Given the description of an element on the screen output the (x, y) to click on. 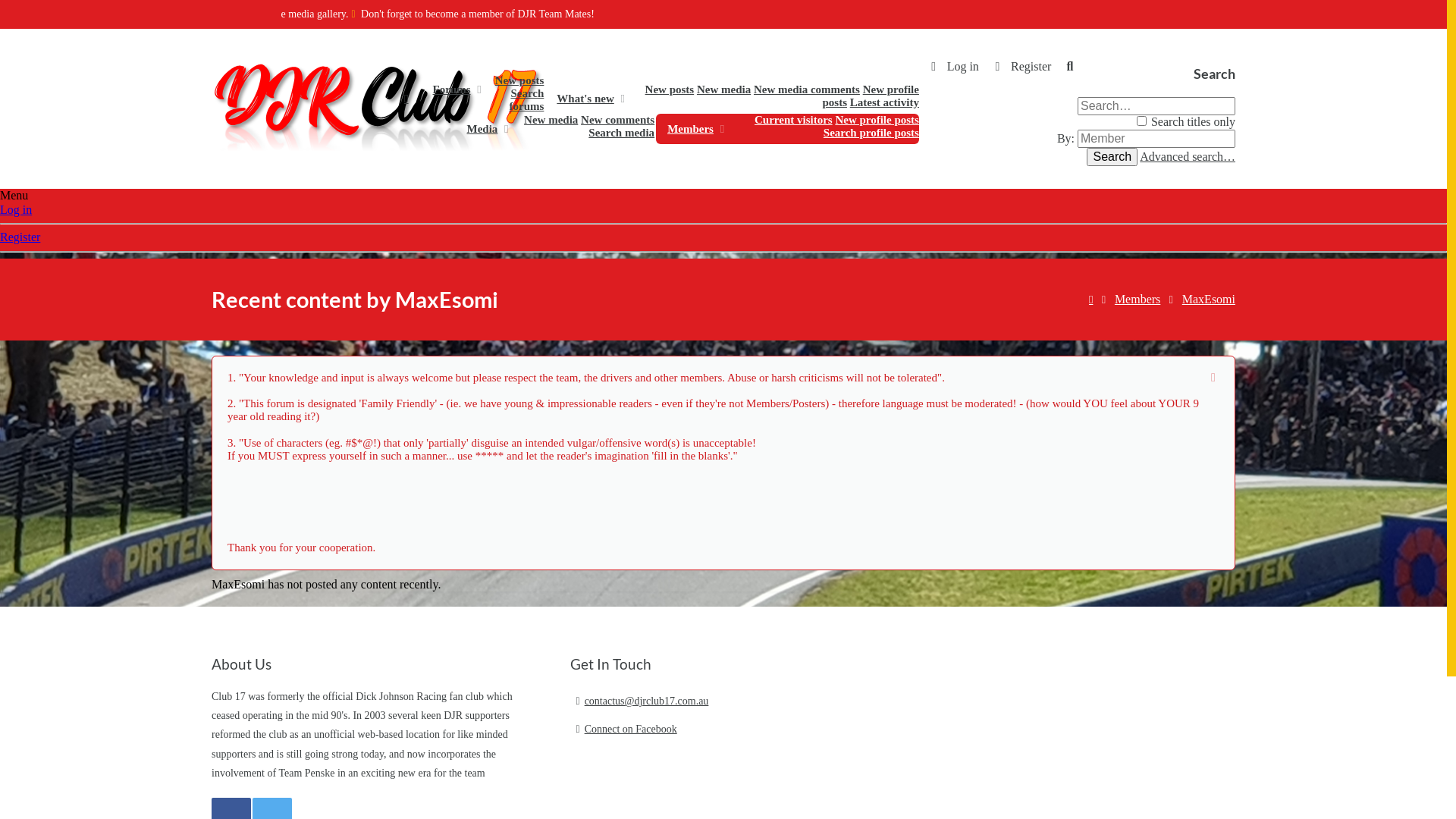
New posts Element type: text (669, 89)
Forums Element type: text (447, 89)
Register Element type: text (20, 236)
Search forums Element type: text (526, 99)
Register Element type: text (1020, 66)
Log in Element type: text (15, 209)
Members Element type: text (685, 128)
Members Element type: text (1137, 299)
Search media Element type: text (621, 132)
Home Element type: text (1090, 301)
Search Element type: text (1111, 156)
Latest activity Element type: text (884, 102)
Log in Element type: text (952, 66)
New media Element type: text (723, 89)
New comments Element type: text (617, 119)
MaxEsomi Element type: text (1208, 299)
New profile posts Element type: text (870, 95)
What's new Element type: text (580, 98)
Media Element type: text (477, 128)
Connect on Facebook Element type: text (685, 729)
New media Element type: text (550, 119)
Search Element type: hover (1069, 66)
contactus@djrclub17.com.au Element type: text (685, 701)
New media comments Element type: text (806, 89)
New posts Element type: text (519, 80)
Home Element type: text (405, 98)
Current visitors Element type: text (793, 119)
New profile posts Element type: text (876, 119)
Search profile posts Element type: text (871, 132)
